Given the description of an element on the screen output the (x, y) to click on. 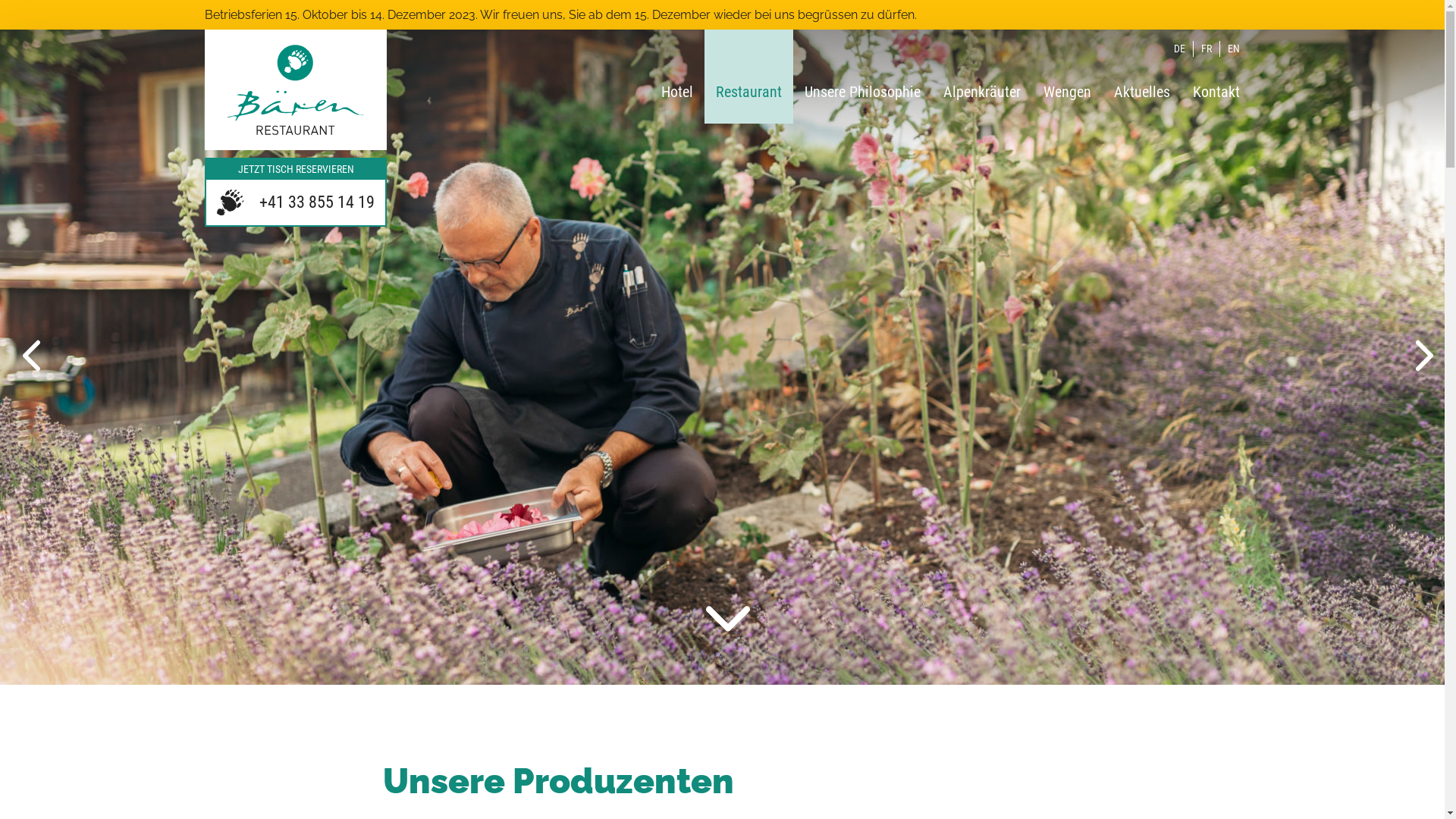
EN Element type: text (1233, 48)
JETZT TISCH RESERVIEREN
+41 33 855 14 19 Element type: text (295, 191)
Restaurant Element type: text (748, 76)
FR Element type: text (1206, 48)
Aktuelles Element type: text (1141, 76)
Kontakt Element type: text (1216, 76)
DE Element type: text (1179, 48)
Hotel Element type: text (676, 76)
Wengen Element type: text (1067, 76)
Unsere Philosophie Element type: text (862, 76)
